Given the description of an element on the screen output the (x, y) to click on. 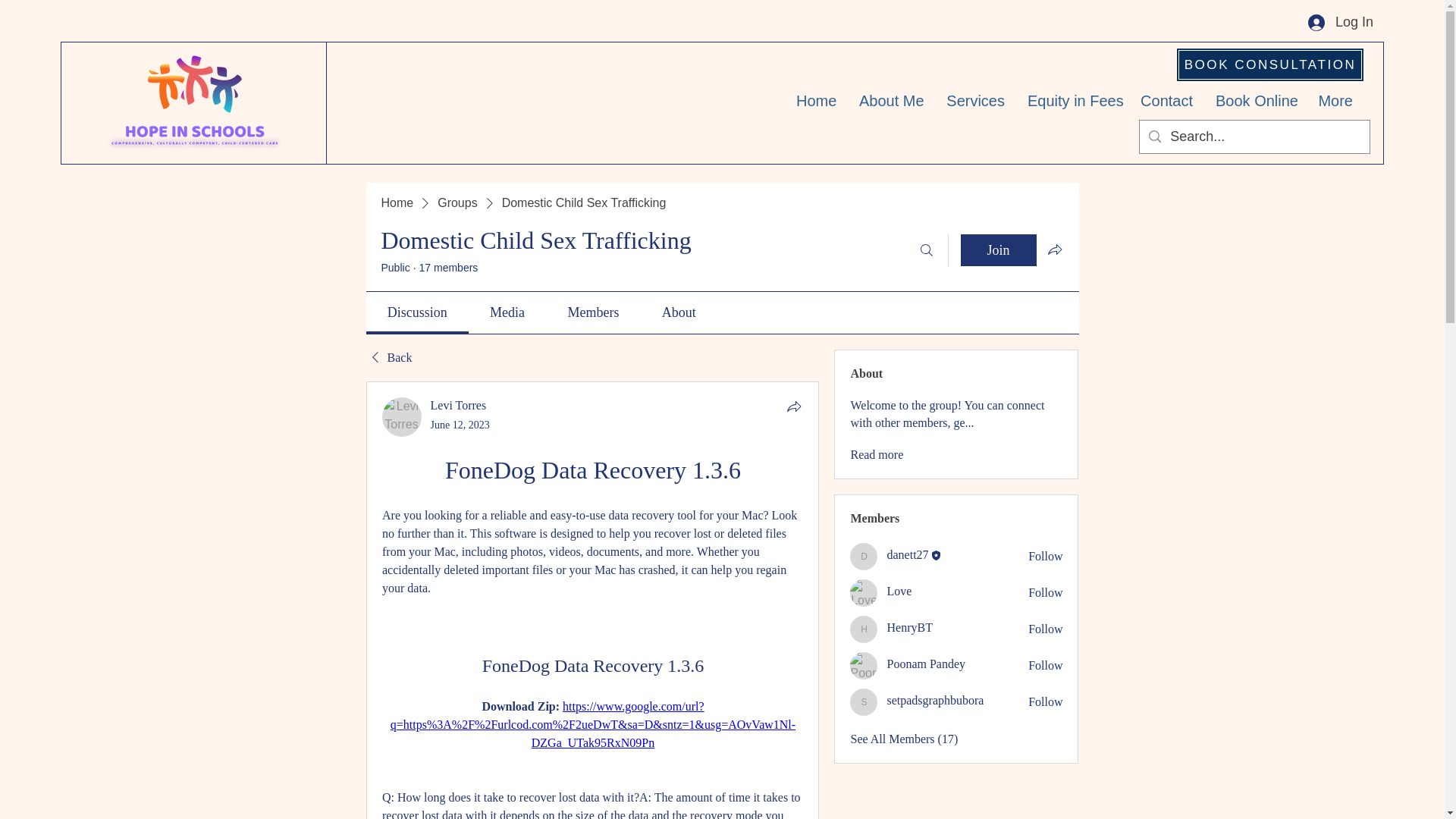
Love (898, 590)
setpadsgraphbubora (935, 699)
Log In (1340, 22)
Levi Torres (458, 404)
Back (388, 357)
Equity in Fees (1072, 100)
Follow (1044, 701)
Follow (1044, 556)
Join (997, 250)
Follow (1044, 592)
Home (396, 202)
Home (815, 100)
Levi Torres (401, 416)
June 12, 2023 (459, 424)
setpadsgraphbubora (863, 701)
